Given the description of an element on the screen output the (x, y) to click on. 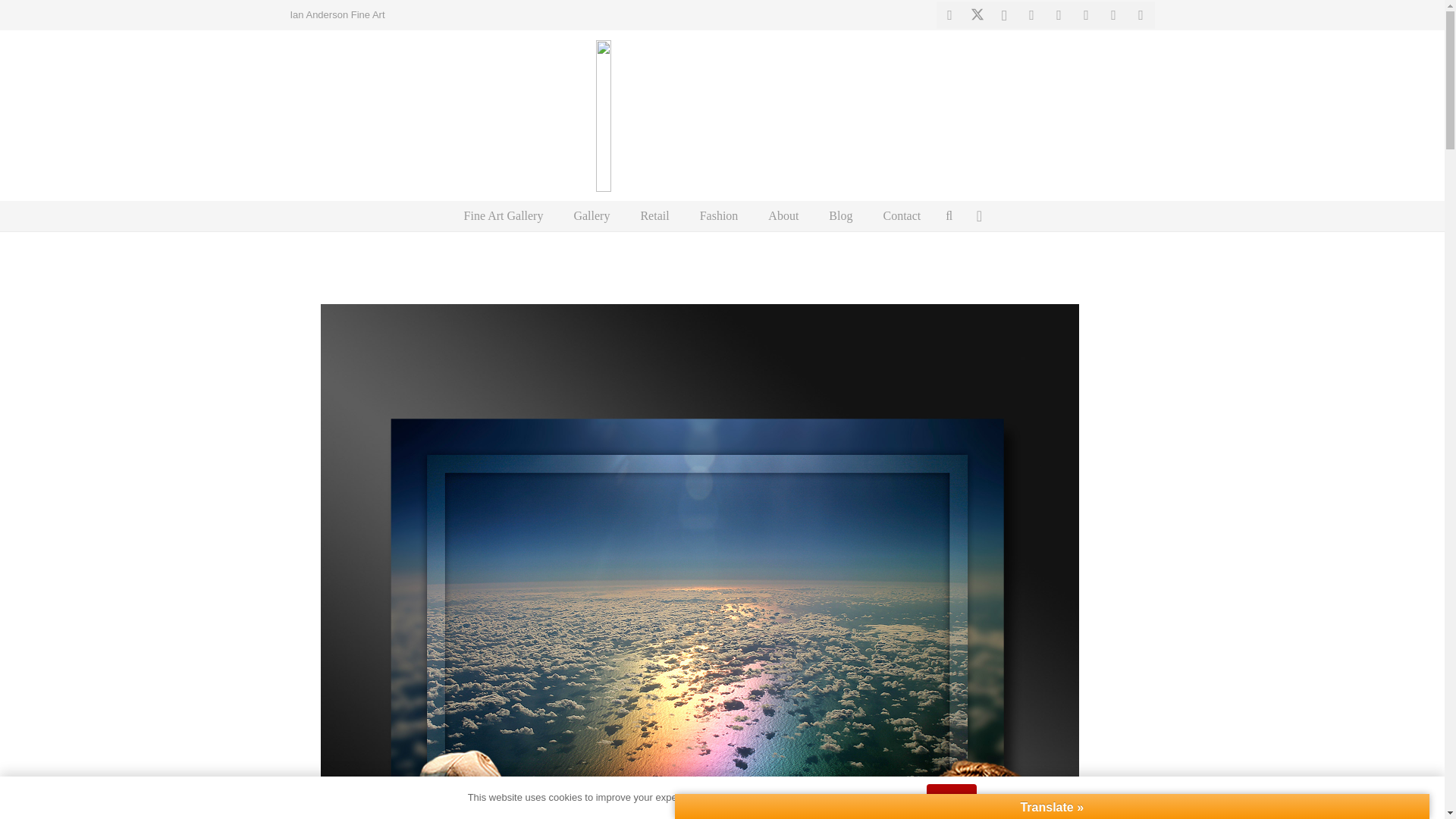
LinkedIn (1059, 14)
Email (995, 646)
Blog (840, 216)
Gallery (590, 216)
Google (1086, 14)
Fashion (719, 216)
Instagram (1004, 14)
Facebook (949, 14)
Twitter (1071, 646)
Pinterest (1031, 14)
